Given the description of an element on the screen output the (x, y) to click on. 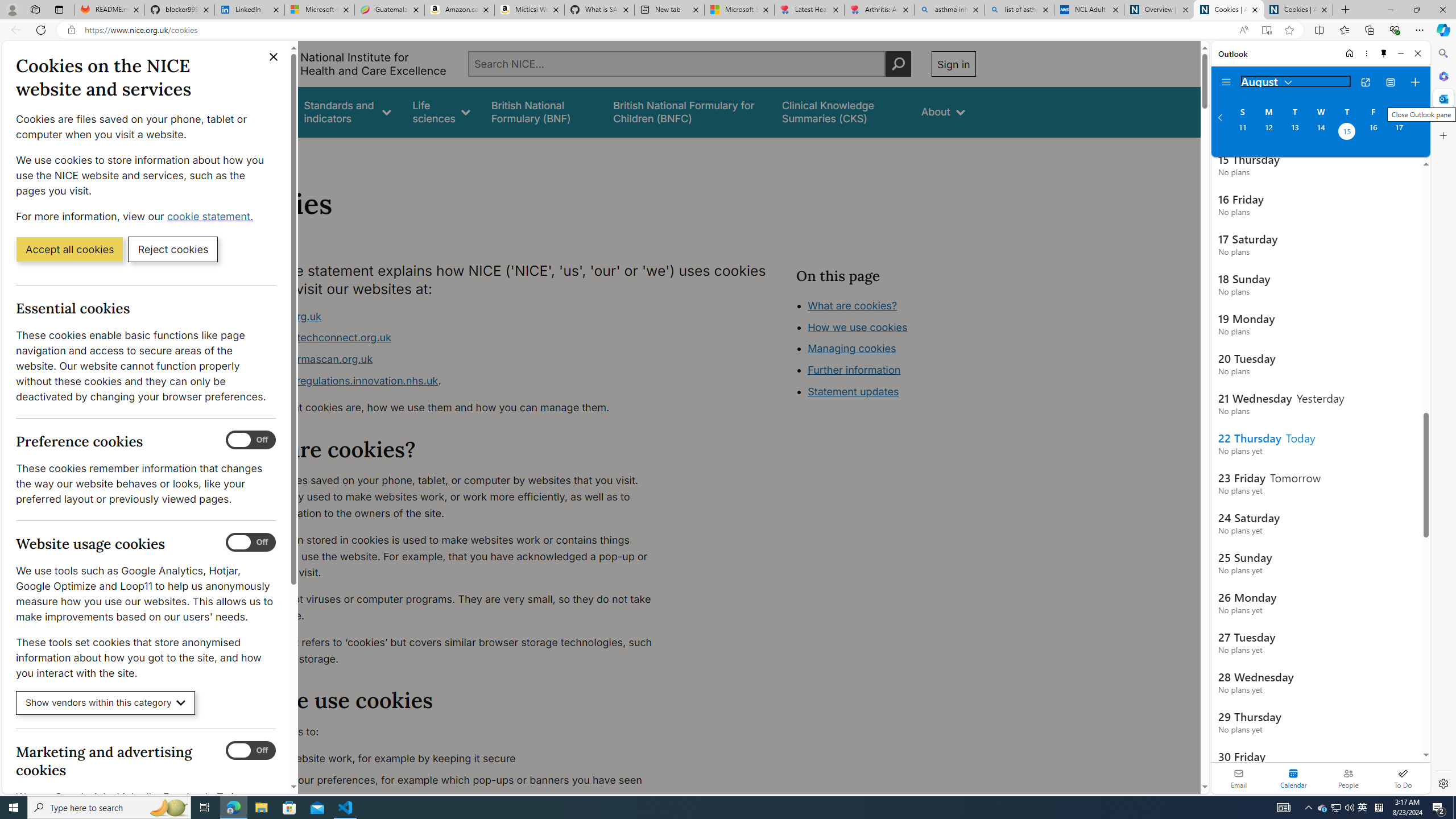
Marketing and advertising cookies (250, 750)
Life sciences (440, 111)
Guidance (260, 111)
Close Customize pane (1442, 135)
Accept all cookies (69, 248)
Preference cookies (250, 439)
LinkedIn (249, 9)
Statement updates (853, 391)
View Switcher. Current view is Agenda view (1390, 82)
Life sciences (440, 111)
About (942, 111)
